Given the description of an element on the screen output the (x, y) to click on. 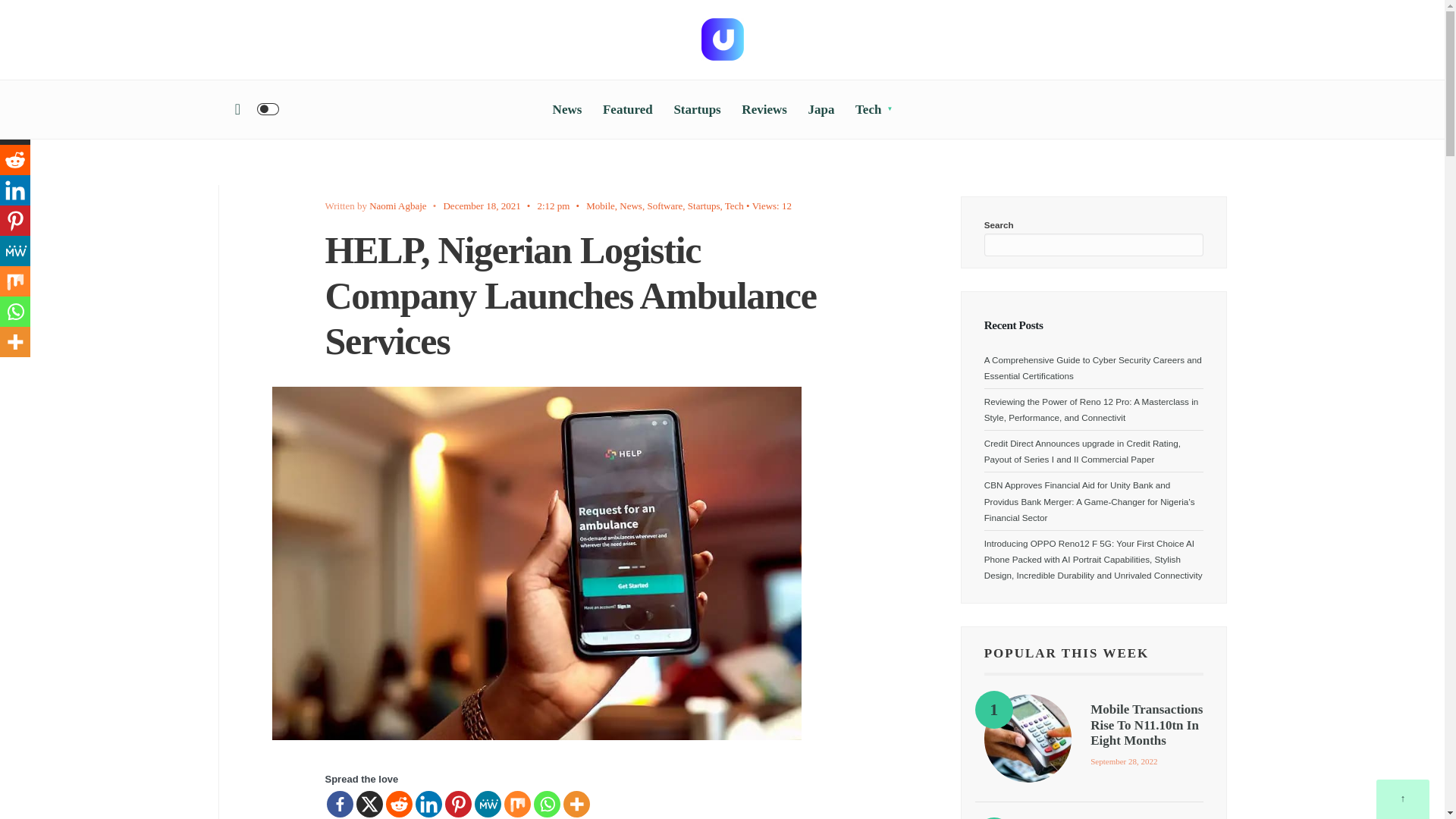
Featured (627, 109)
Pinterest (457, 804)
Tech (734, 205)
Tech (873, 109)
MeWe (487, 804)
X (15, 129)
Mobile (600, 205)
Startups (703, 205)
Facebook (15, 99)
Software (664, 205)
